Given the description of an element on the screen output the (x, y) to click on. 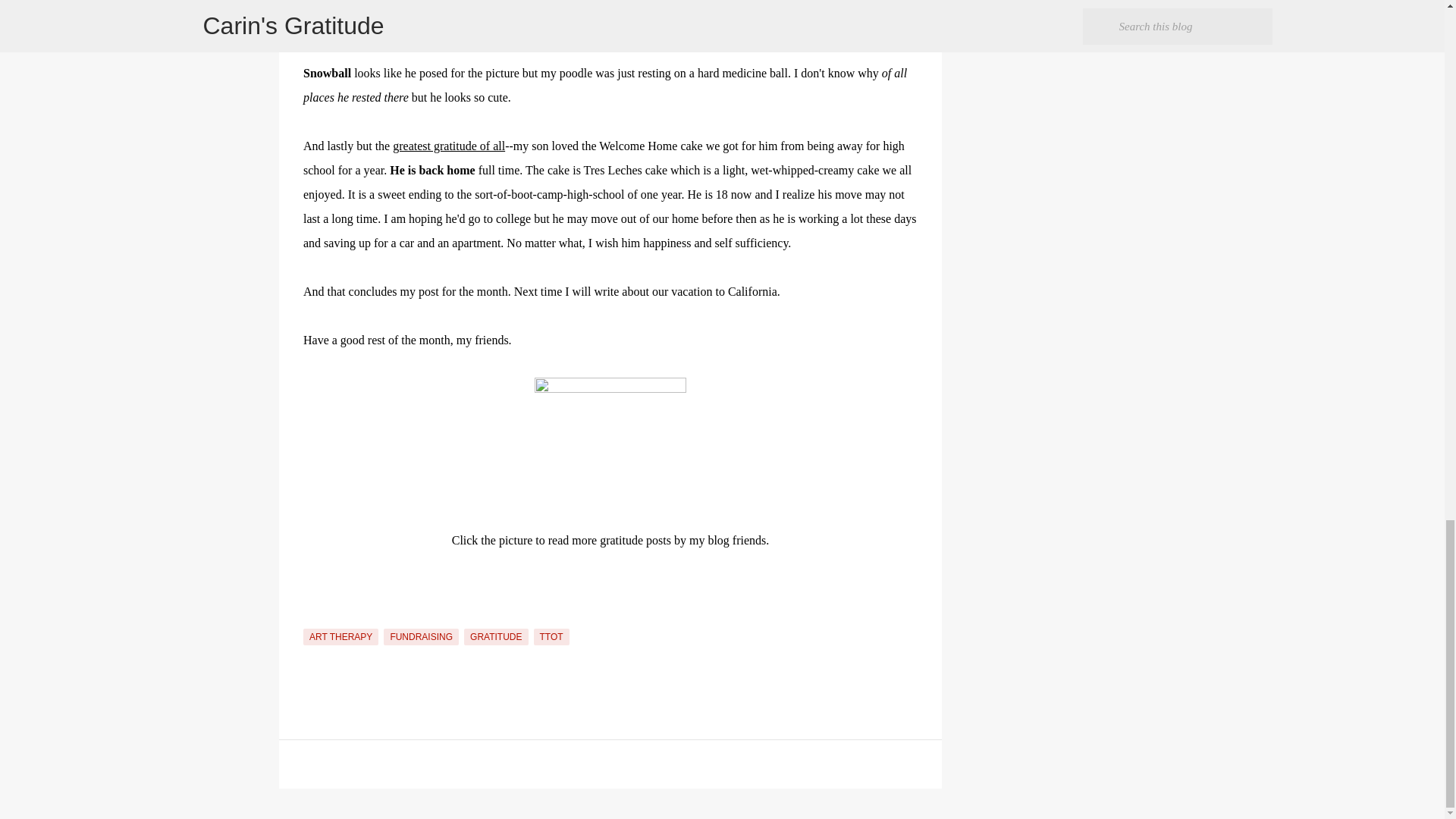
FUNDRAISING (421, 636)
GRATITUDE (495, 636)
ART THERAPY (340, 636)
TTOT (551, 636)
